Given the description of an element on the screen output the (x, y) to click on. 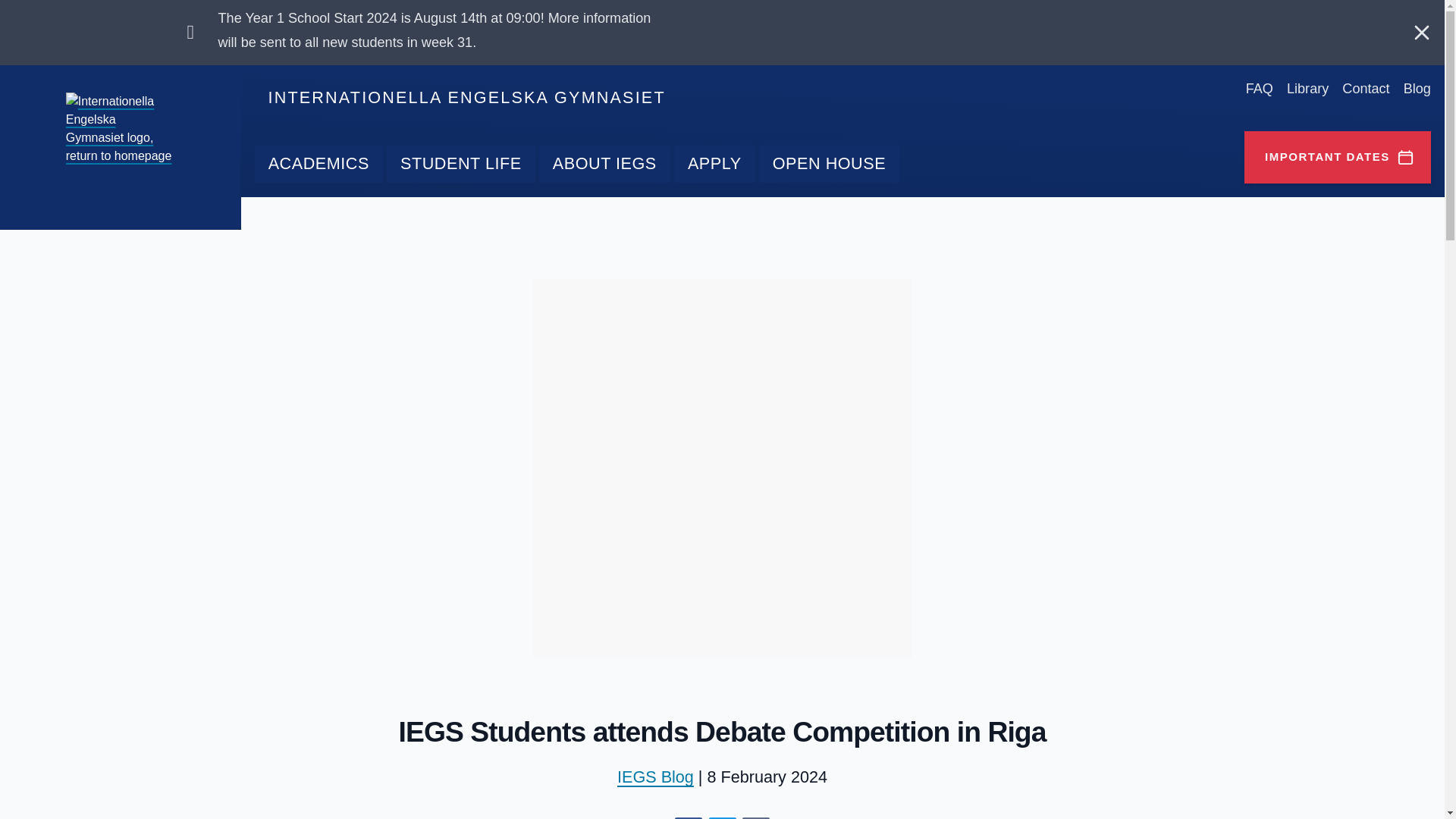
ABOUT IEGS (603, 163)
IMPORTANT DATES (1337, 157)
FAQ (1259, 88)
Library (1307, 88)
Blog (1417, 88)
ACADEMICS (318, 163)
INTERNATIONELLA ENGELSKA GYMNASIET (466, 97)
OPEN HOUSE (828, 163)
Contact (1365, 88)
IEGS Blog (655, 776)
STUDENT LIFE (461, 163)
APPLY (714, 163)
